Given the description of an element on the screen output the (x, y) to click on. 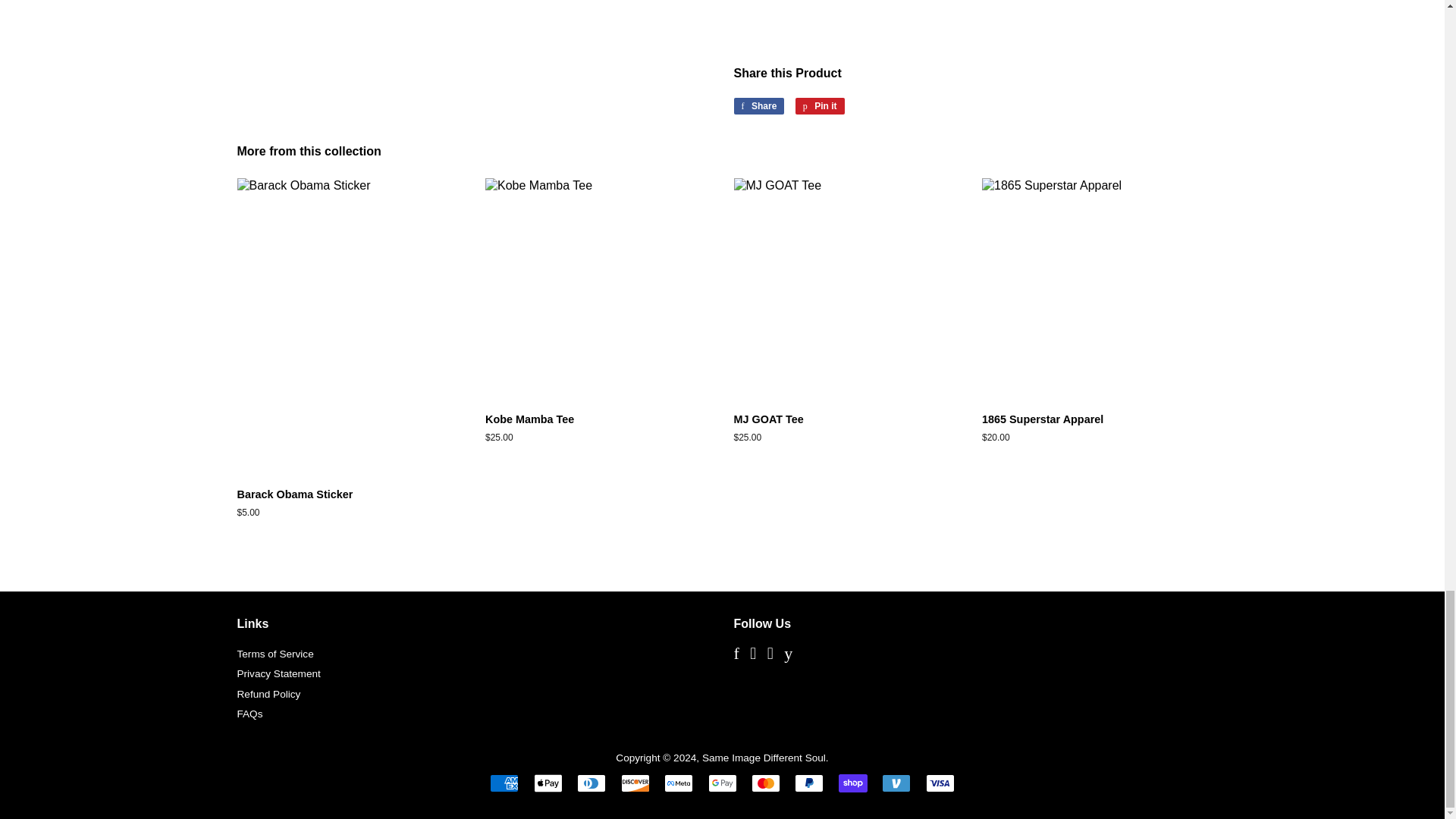
Mastercard (765, 782)
Share on Facebook (758, 105)
Shop Pay (852, 782)
Apple Pay (548, 782)
Venmo (896, 782)
American Express (503, 782)
Diners Club (590, 782)
PayPal (809, 782)
Pin on Pinterest (819, 105)
